Given the description of an element on the screen output the (x, y) to click on. 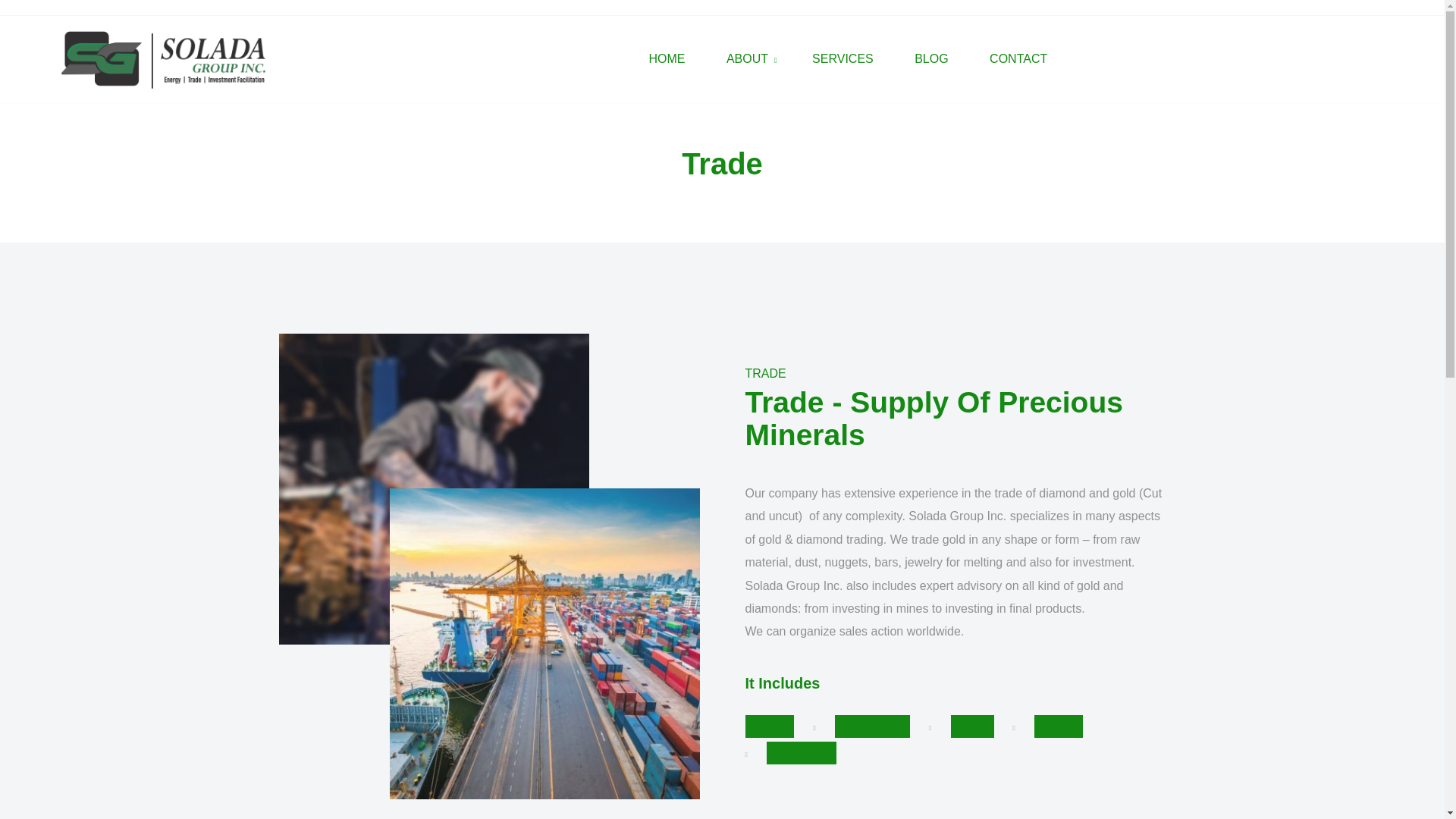
Dust (768, 725)
Bar (972, 725)
CONTACT (1018, 58)
SERVICES (842, 58)
Nuggets (801, 752)
Raw (1058, 725)
Jewellery (872, 725)
